Given the description of an element on the screen output the (x, y) to click on. 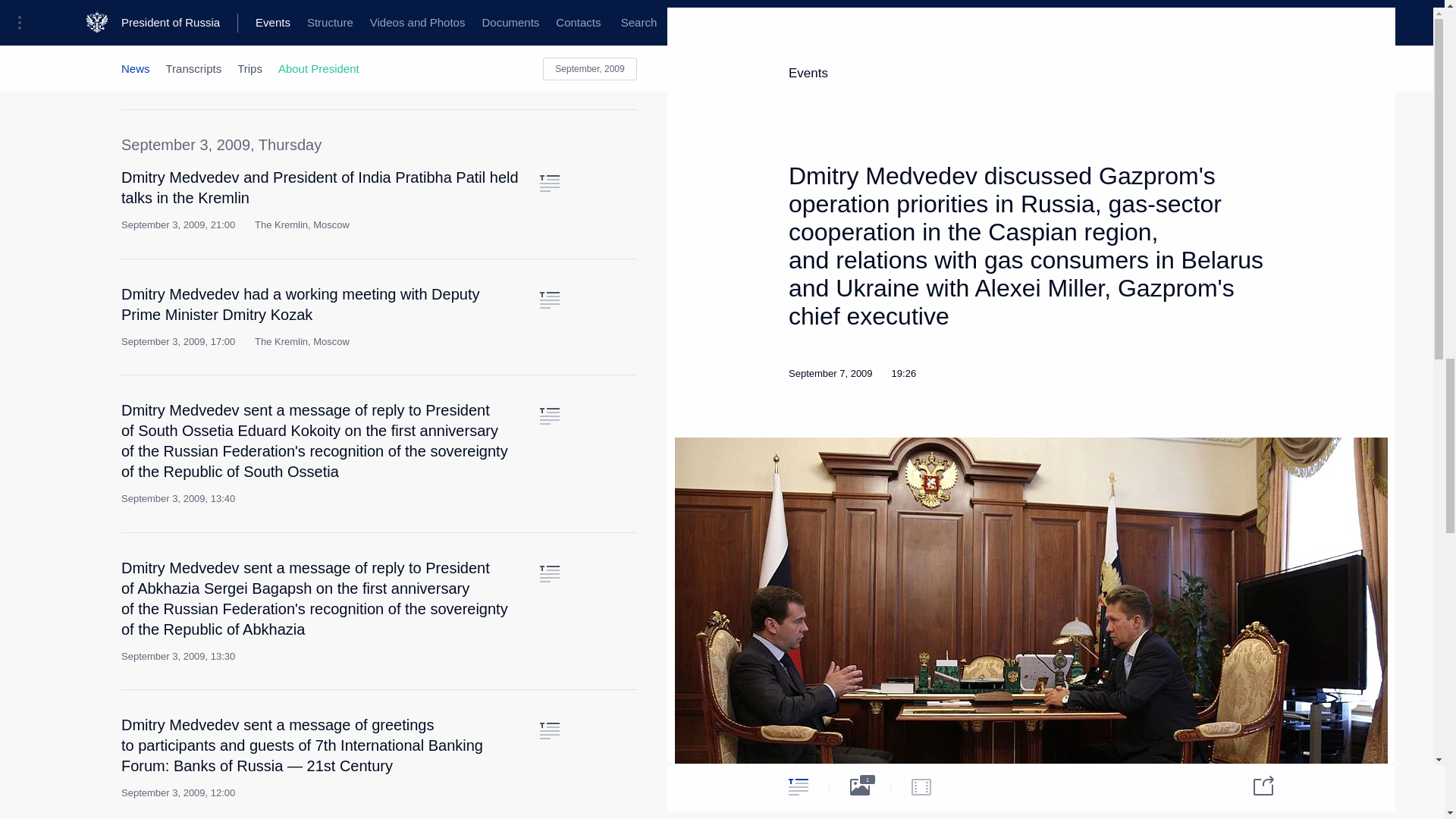
Text of the article (549, 183)
Text of the article (549, 299)
Text of the article (549, 573)
Text of the article (549, 13)
Text of the article (549, 416)
